Given the description of an element on the screen output the (x, y) to click on. 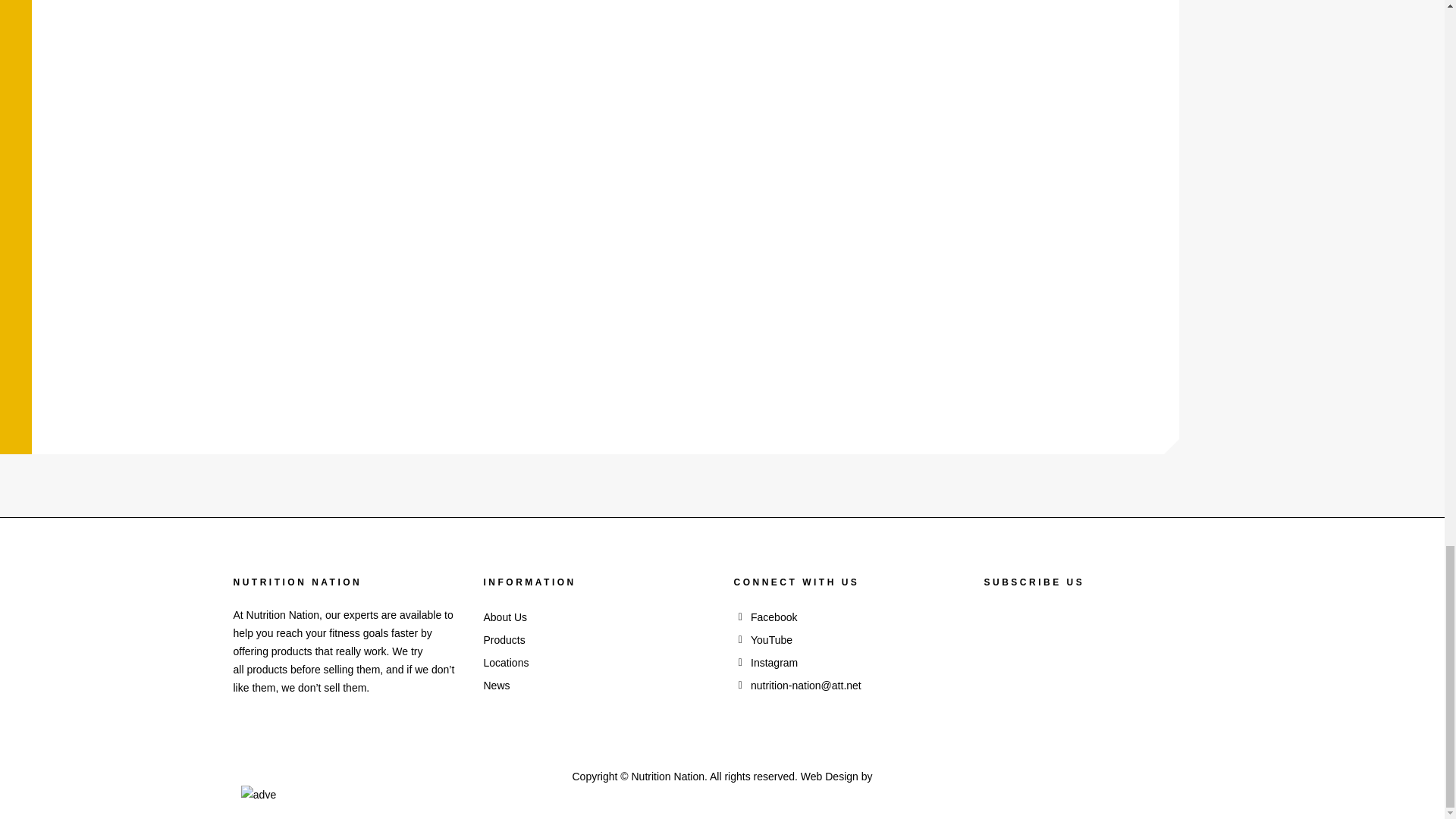
Facebook (846, 617)
Products (597, 639)
Locations (597, 662)
About Us (597, 617)
YouTube (846, 639)
Instagram (846, 662)
News (597, 685)
